Given the description of an element on the screen output the (x, y) to click on. 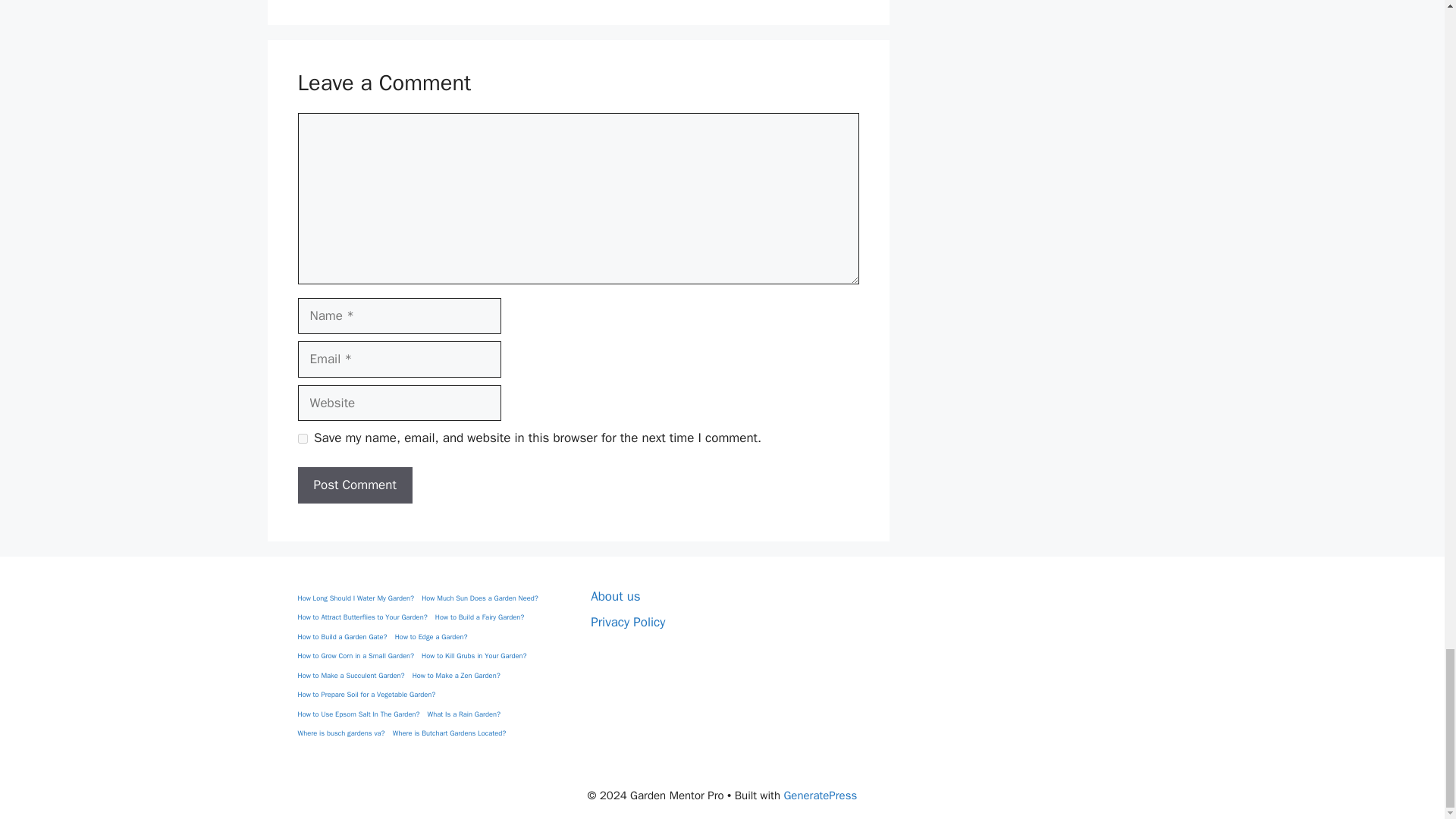
How to Prepare Soil for a Vegetable Garden? (366, 695)
yes (302, 438)
Post Comment (354, 484)
How to Attract Butterflies to Your Garden? (361, 617)
How to Make a Succulent Garden? (350, 675)
How Much Sun Does a Garden Need? (480, 598)
How to Grow Corn in a Small Garden? (355, 656)
How to Make a Zen Garden? (456, 675)
How to Build a Fairy Garden? (479, 617)
Where is busch gardens va? (340, 733)
